Given the description of an element on the screen output the (x, y) to click on. 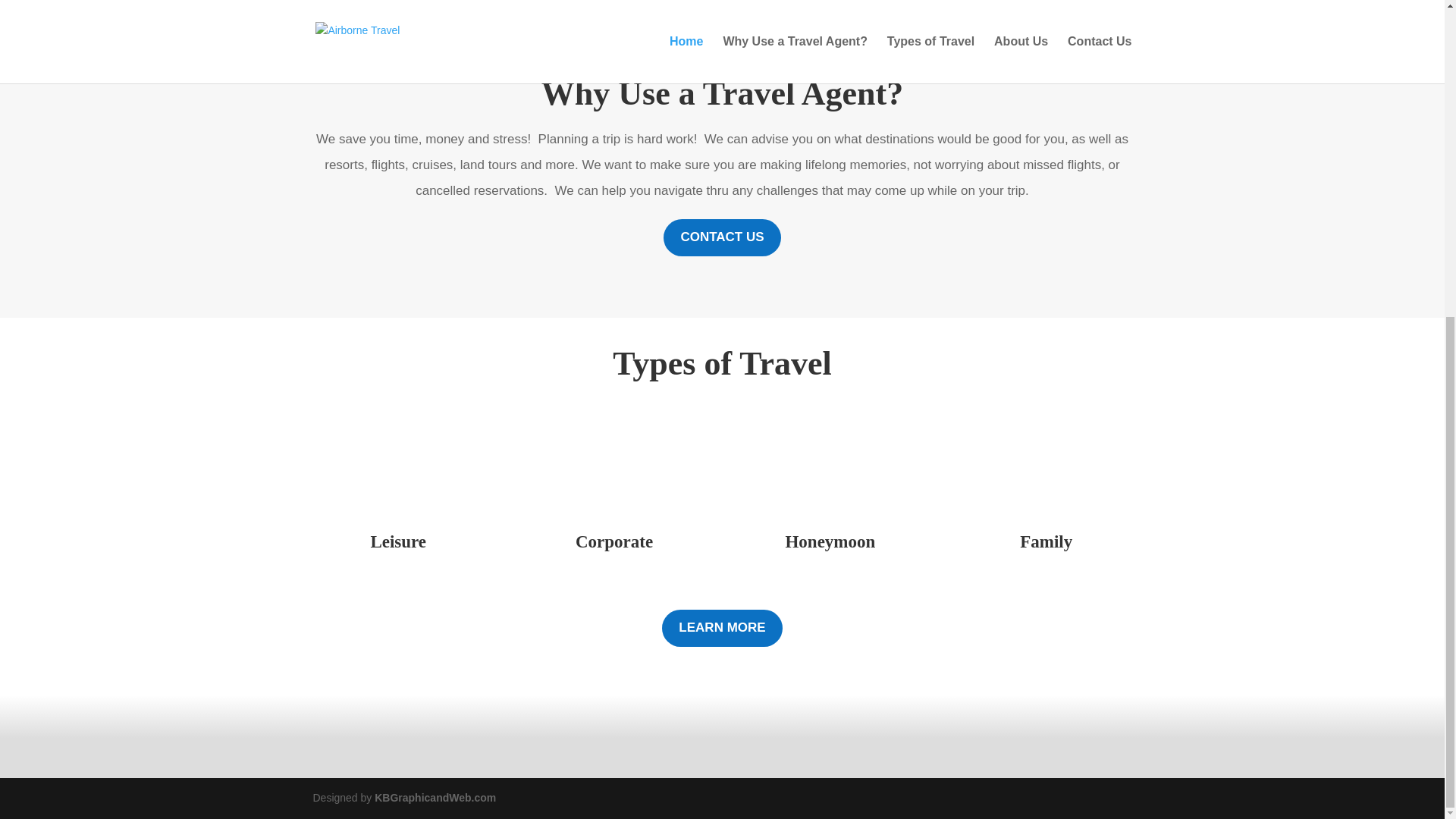
LEARN MORE (721, 628)
CONTACT US (721, 237)
KBGraphicandWeb.com (435, 797)
